Given the description of an element on the screen output the (x, y) to click on. 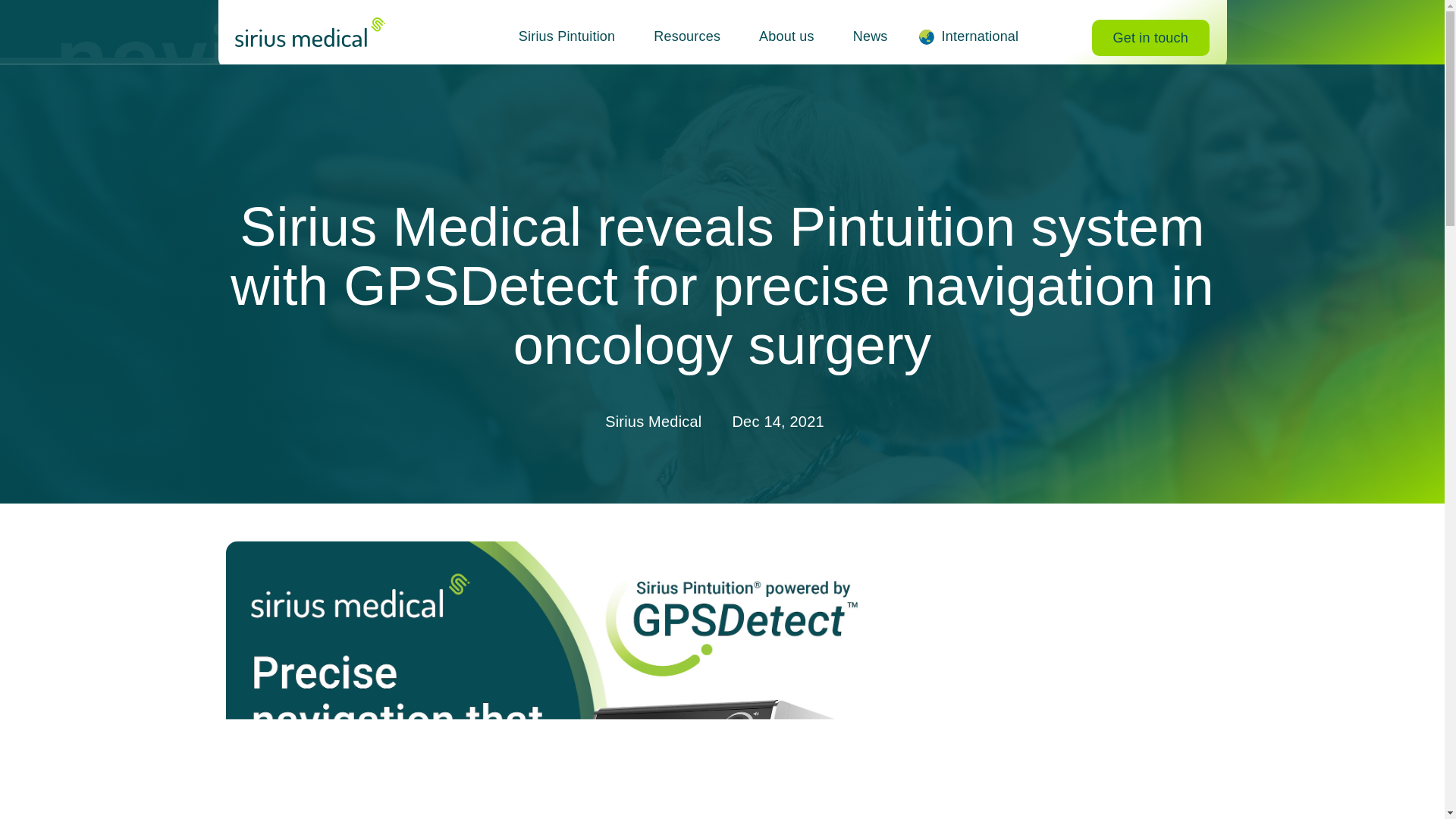
Sirius Pintuition (566, 36)
Resources (686, 36)
Book a demo (1150, 37)
About us (786, 36)
Go to Sirius Medical Homepage (309, 26)
